Given the description of an element on the screen output the (x, y) to click on. 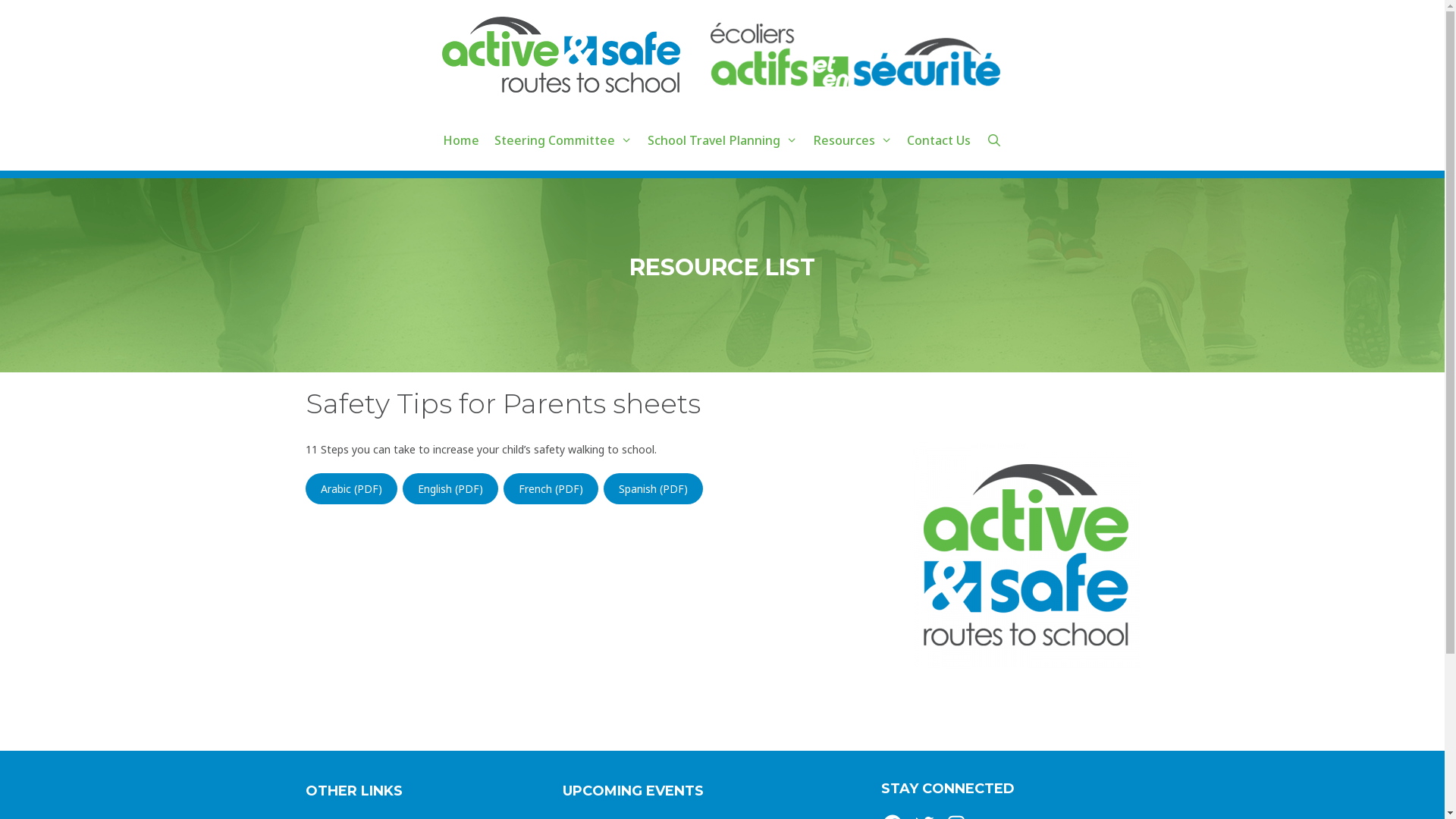
Spanish (PDF) Element type: text (652, 488)
English (PDF) Element type: text (449, 488)
French (PDF) Element type: text (550, 488)
Home Element type: text (460, 139)
School Travel Planning Element type: text (722, 139)
Arabic (PDF) Element type: text (350, 488)
Resources Element type: text (852, 139)
Steering Committee Element type: text (563, 139)
Contact Us Element type: text (938, 139)
